Given the description of an element on the screen output the (x, y) to click on. 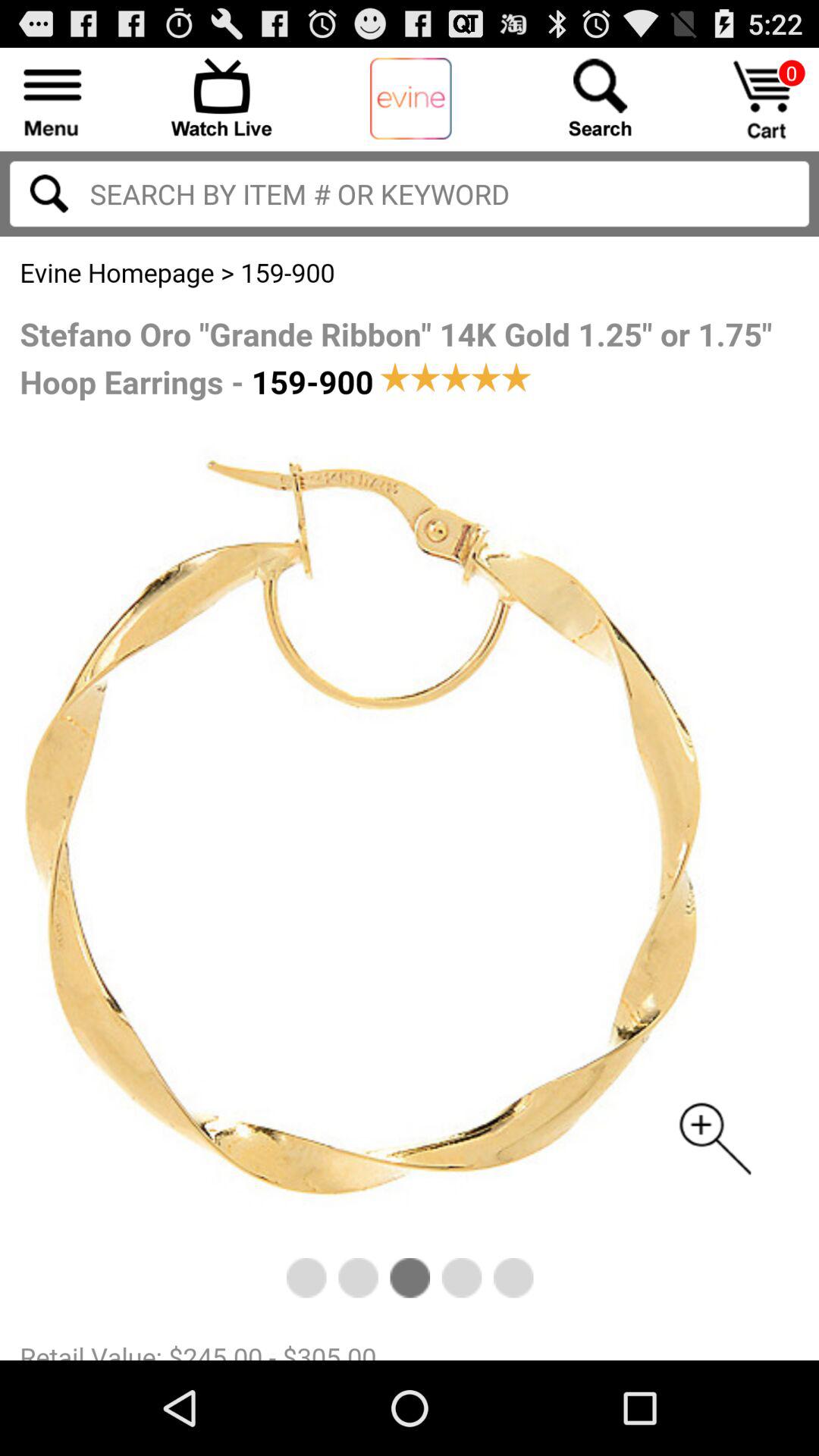
access menu (52, 97)
